Given the description of an element on the screen output the (x, y) to click on. 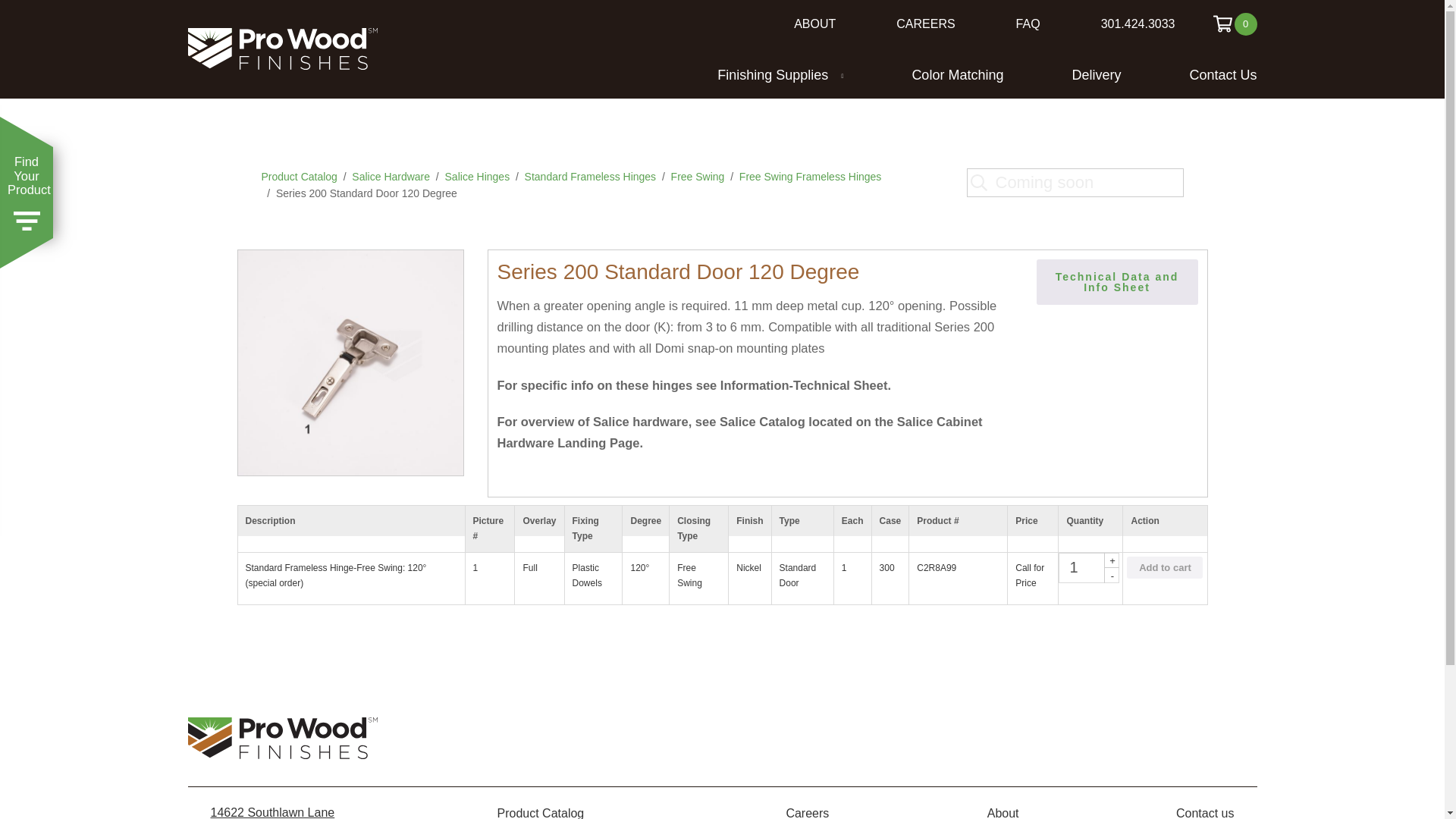
FAQ (1028, 23)
ABOUT (814, 23)
CAREERS (925, 23)
Finishing Supplies (780, 74)
1 (1088, 567)
301.424.3033 (1137, 23)
0 (1234, 24)
301.424.3033 (1137, 23)
